Given the description of an element on the screen output the (x, y) to click on. 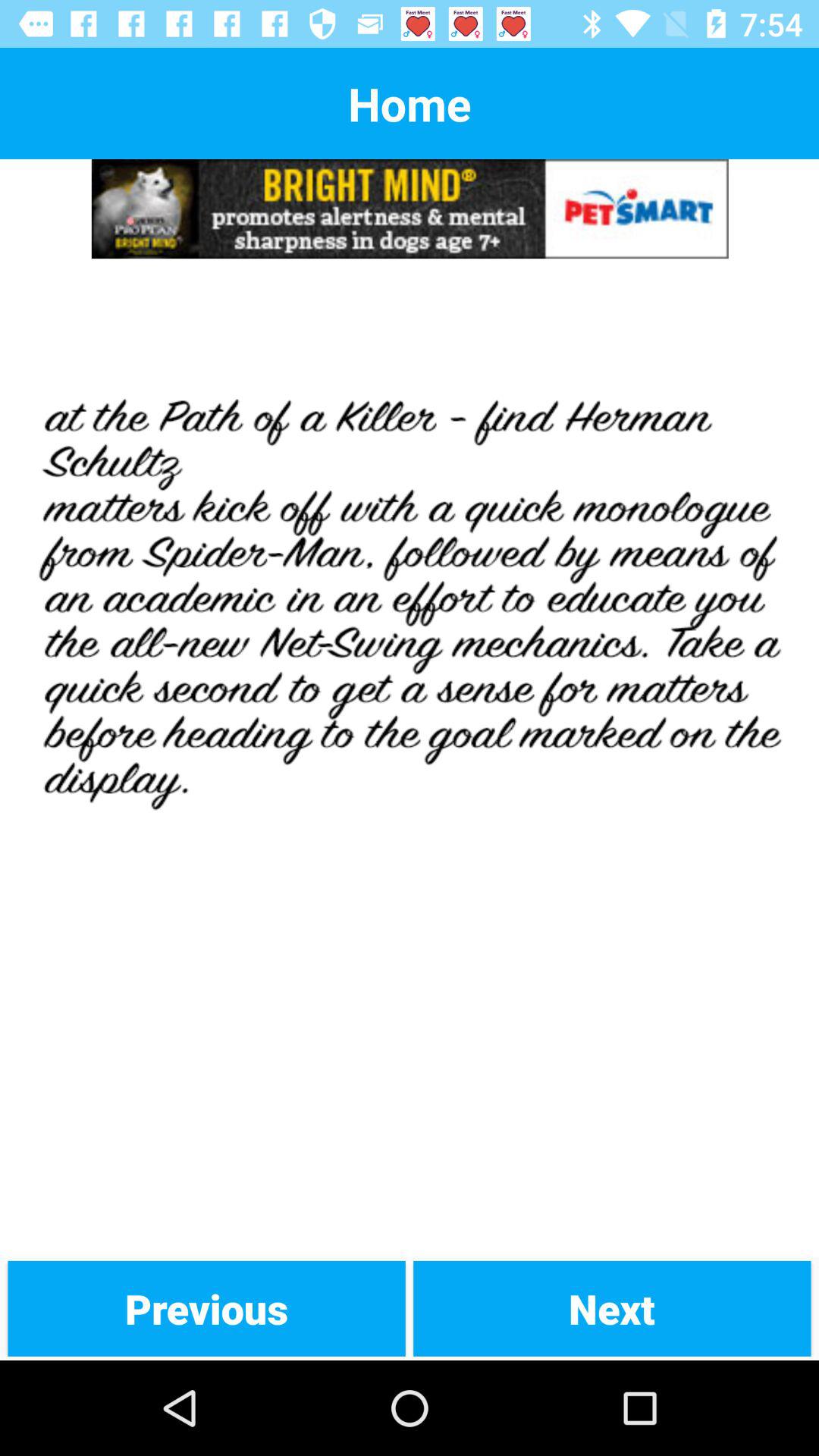
full page (409, 757)
